Given the description of an element on the screen output the (x, y) to click on. 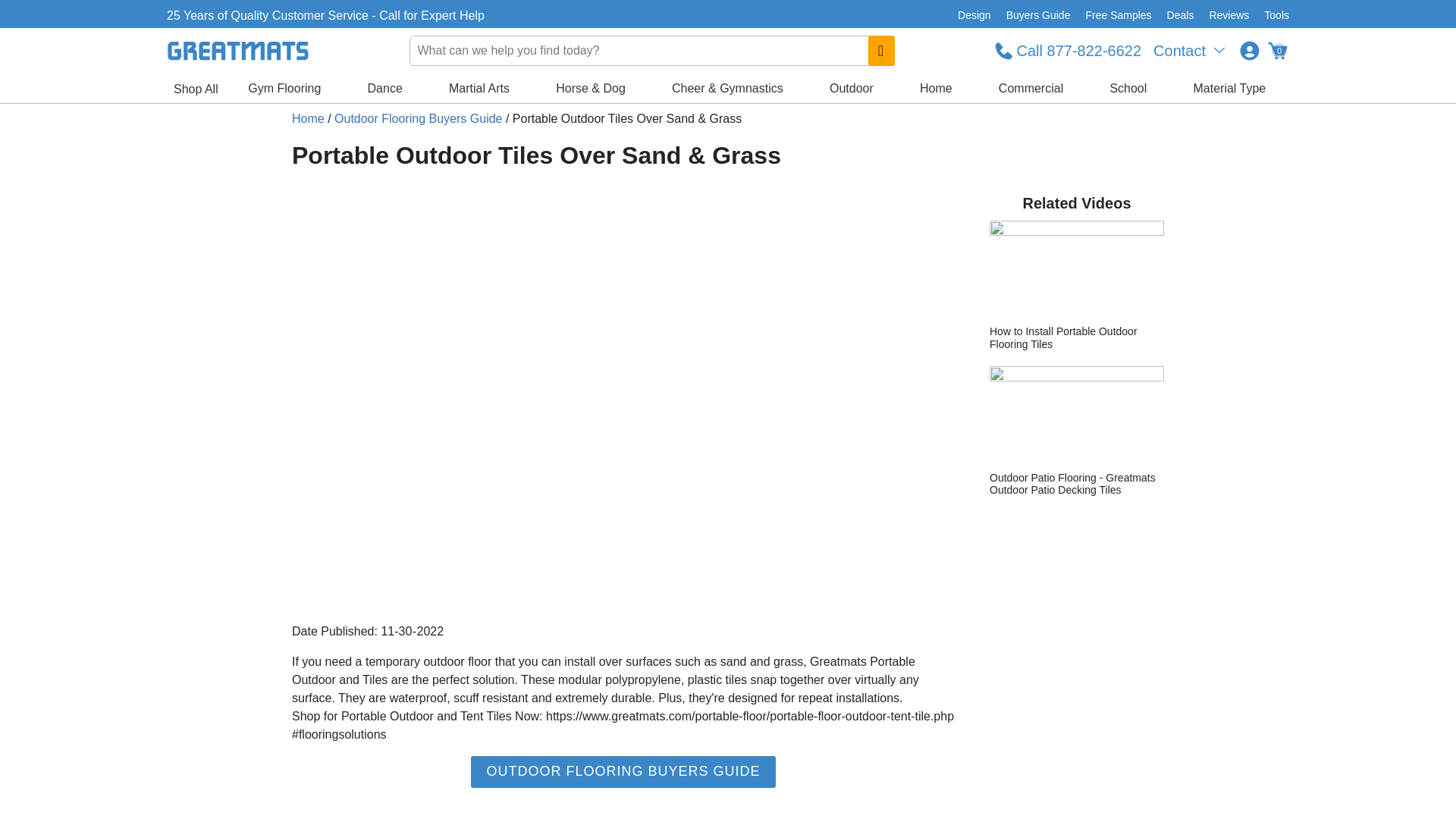
Buyers Guide (1038, 15)
Call 877-822-6622 (1067, 50)
Free Samples (1117, 15)
Contact (1190, 50)
Reviews (1228, 15)
0 (1277, 50)
Deals (1180, 15)
Shop All (196, 89)
Design (974, 15)
Greatmats (308, 118)
Tools (1272, 15)
